Given the description of an element on the screen output the (x, y) to click on. 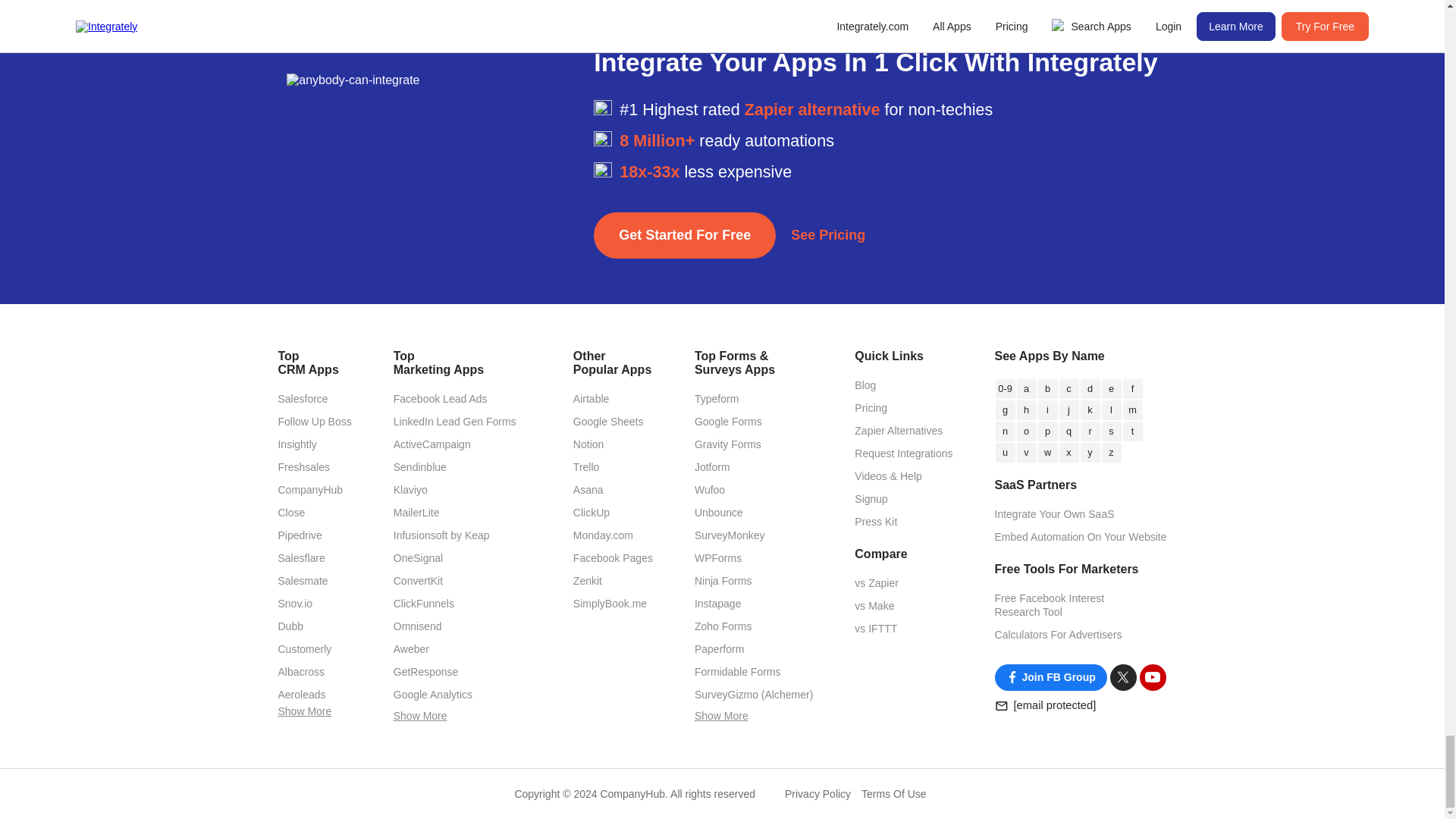
Freshsales (303, 467)
Snov.io (295, 603)
Customerly (304, 648)
CompanyHub (310, 490)
Follow Up Boss (314, 421)
Salesforce (302, 398)
Salesmate (302, 580)
Close (291, 512)
See Pricing (827, 235)
Insightly (296, 444)
Albacross (300, 671)
Dubb (290, 625)
Salesflare (301, 558)
Get Started For Free (685, 235)
Pipedrive (299, 535)
